Given the description of an element on the screen output the (x, y) to click on. 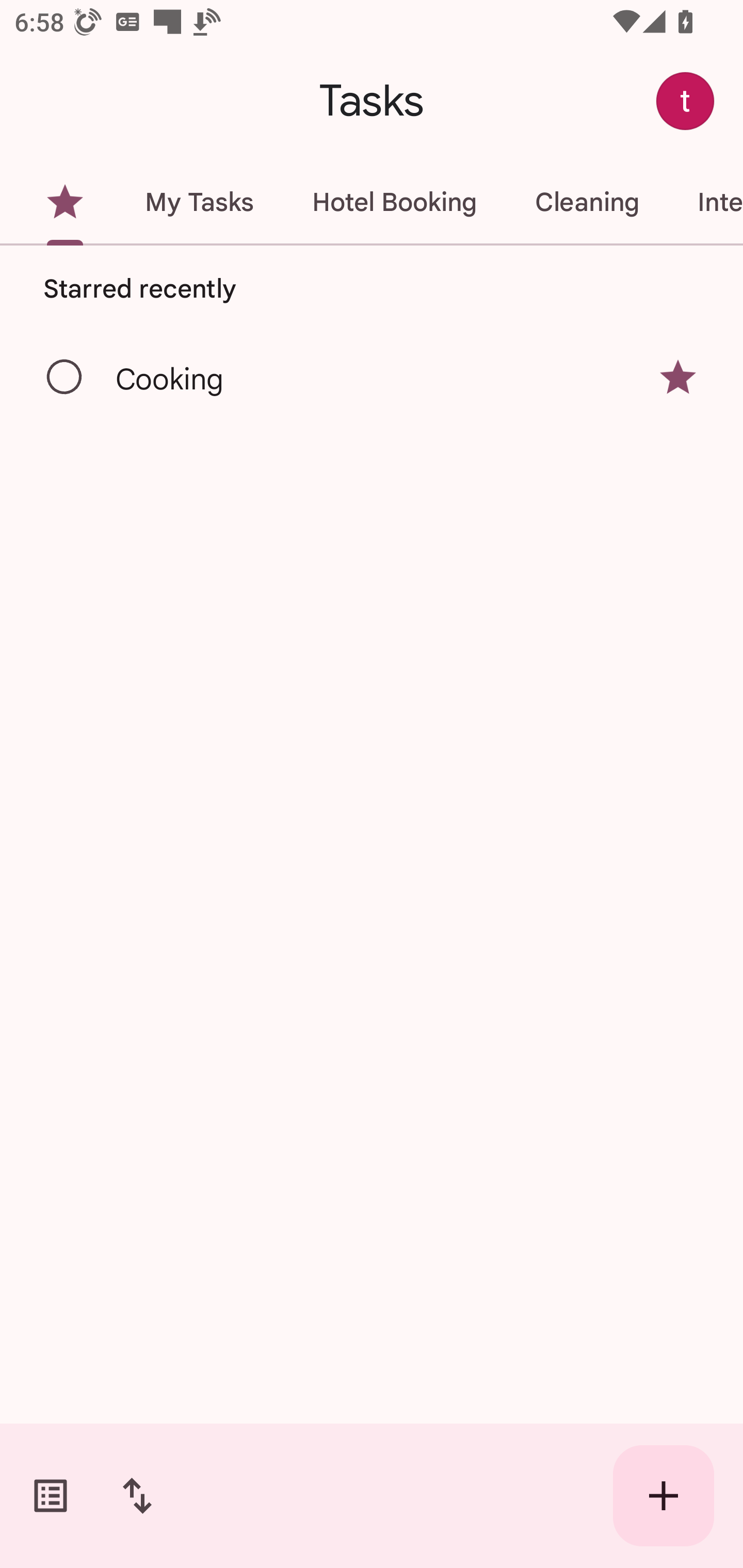
My Tasks (199, 202)
Hotel Booking (394, 202)
Cleaning (586, 202)
Remove star (677, 376)
Mark as complete (64, 377)
Switch task lists (50, 1495)
Create new task (663, 1495)
Change sort order (136, 1495)
